Given the description of an element on the screen output the (x, y) to click on. 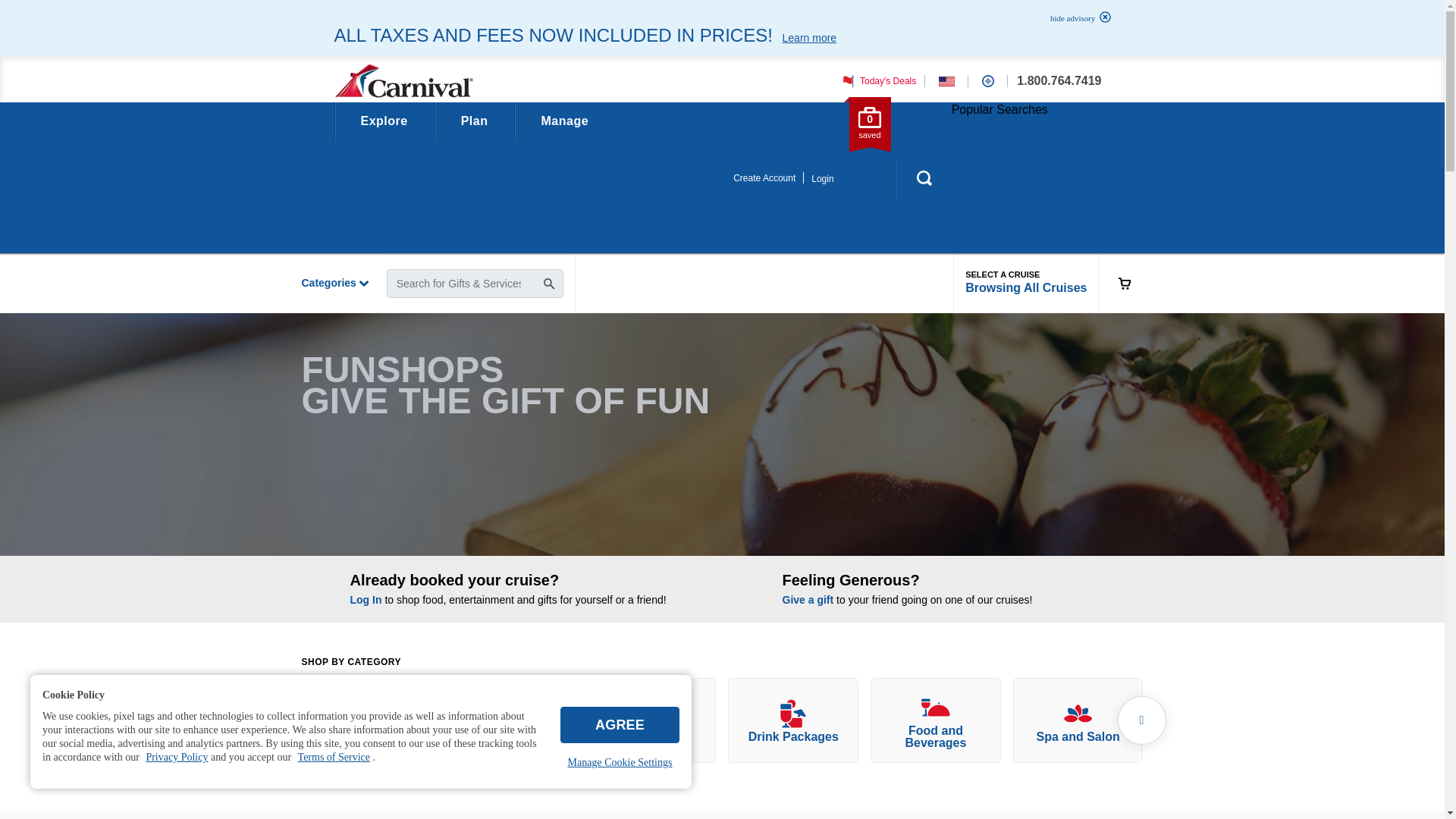
1.800.764.7419 (1058, 80)
Learn more (809, 37)
Today's Deals (876, 81)
hide advisory (1076, 18)
